Given the description of an element on the screen output the (x, y) to click on. 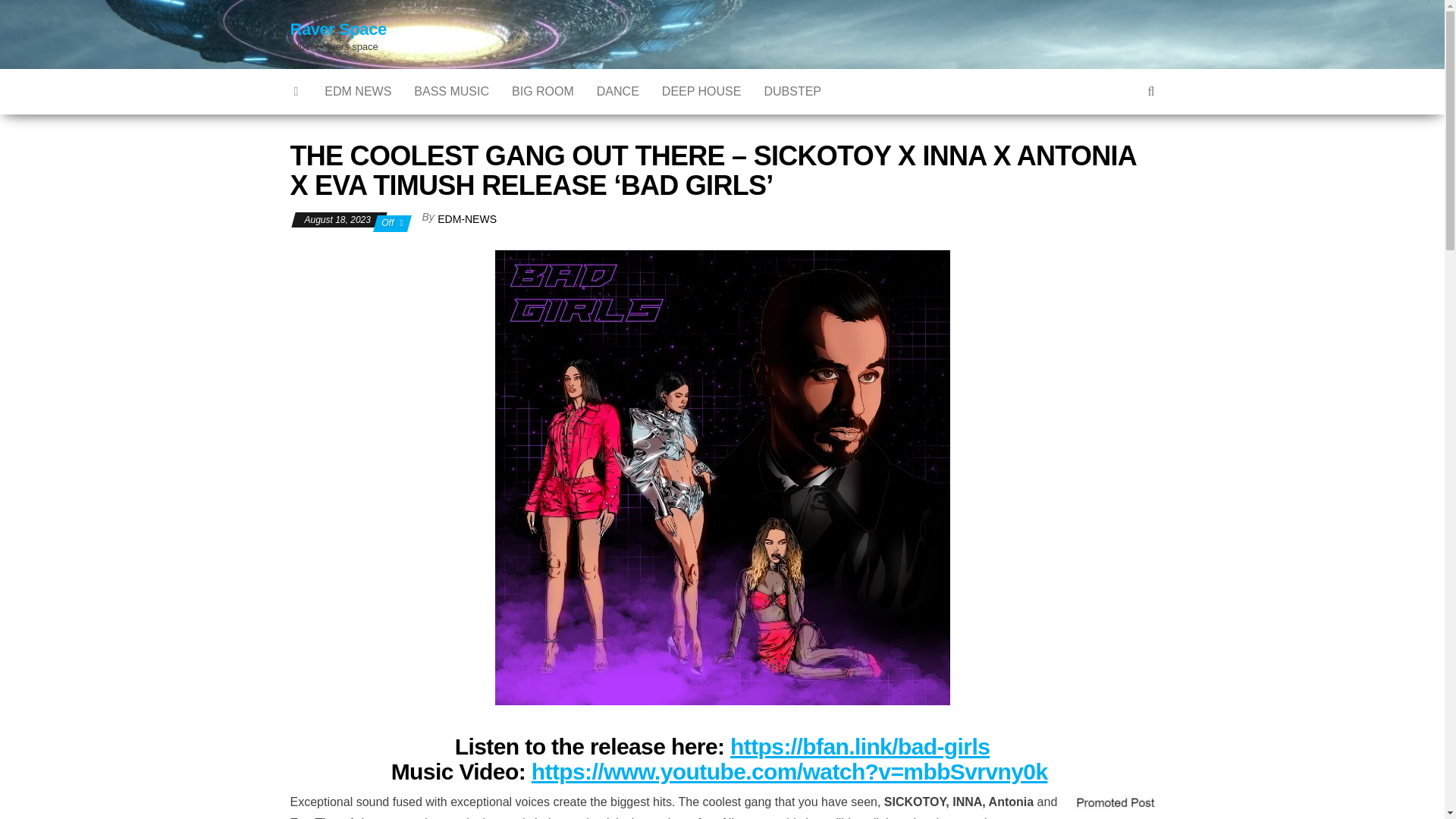
EDM NEWS (358, 91)
BASS MUSIC (451, 91)
BIG ROOM (542, 91)
DANCE (617, 91)
DEEP HOUSE (701, 91)
DEEP HOUSE (701, 91)
DUBSTEP (792, 91)
DUBSTEP (792, 91)
EDM-NEWS (467, 218)
BIG ROOM (542, 91)
EDM NEWS (358, 91)
Raver Space (337, 28)
DANCE (617, 91)
BASS MUSIC (451, 91)
Raver Space (296, 91)
